Given the description of an element on the screen output the (x, y) to click on. 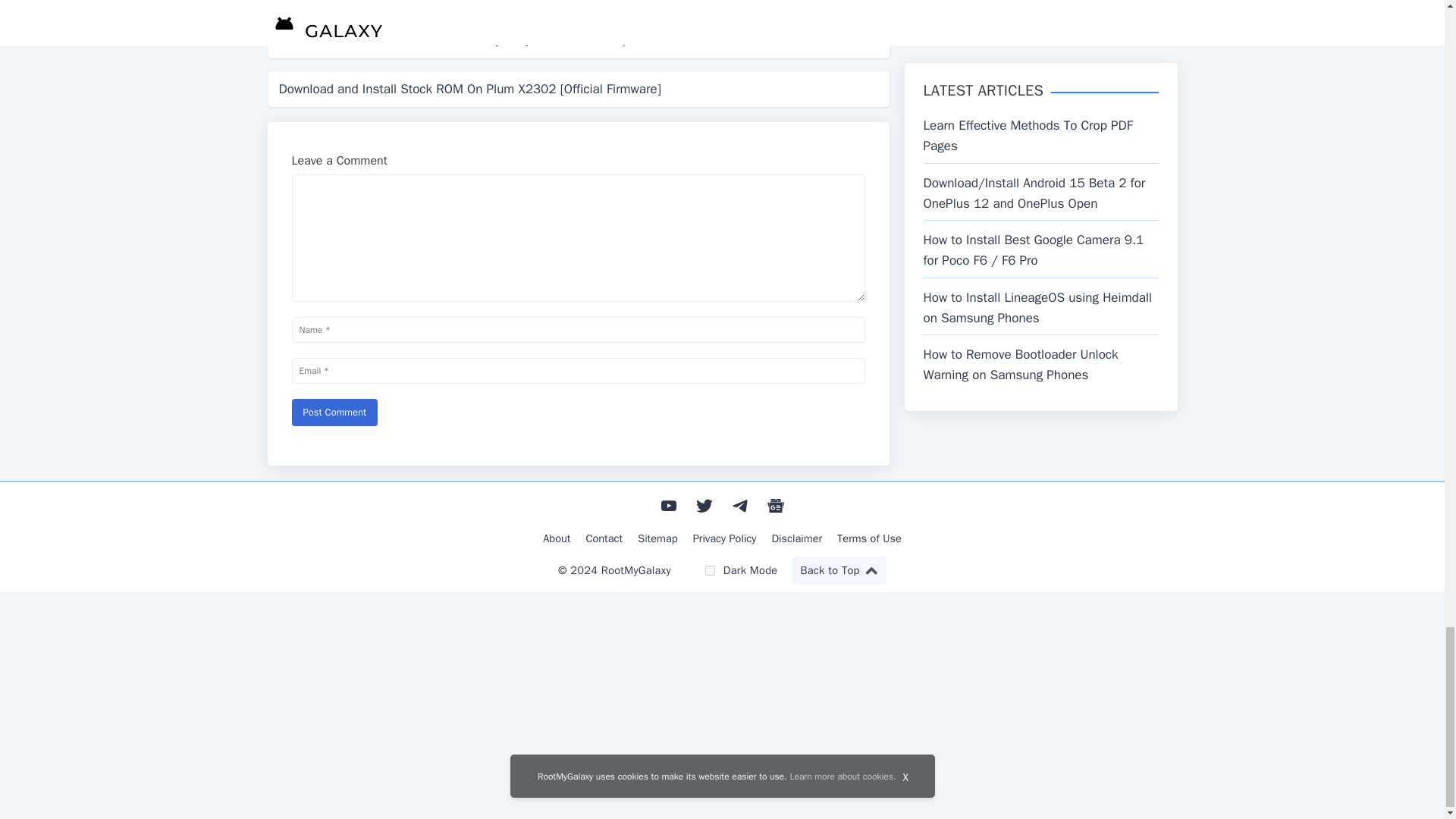
Post Comment (334, 411)
on (709, 570)
